Given the description of an element on the screen output the (x, y) to click on. 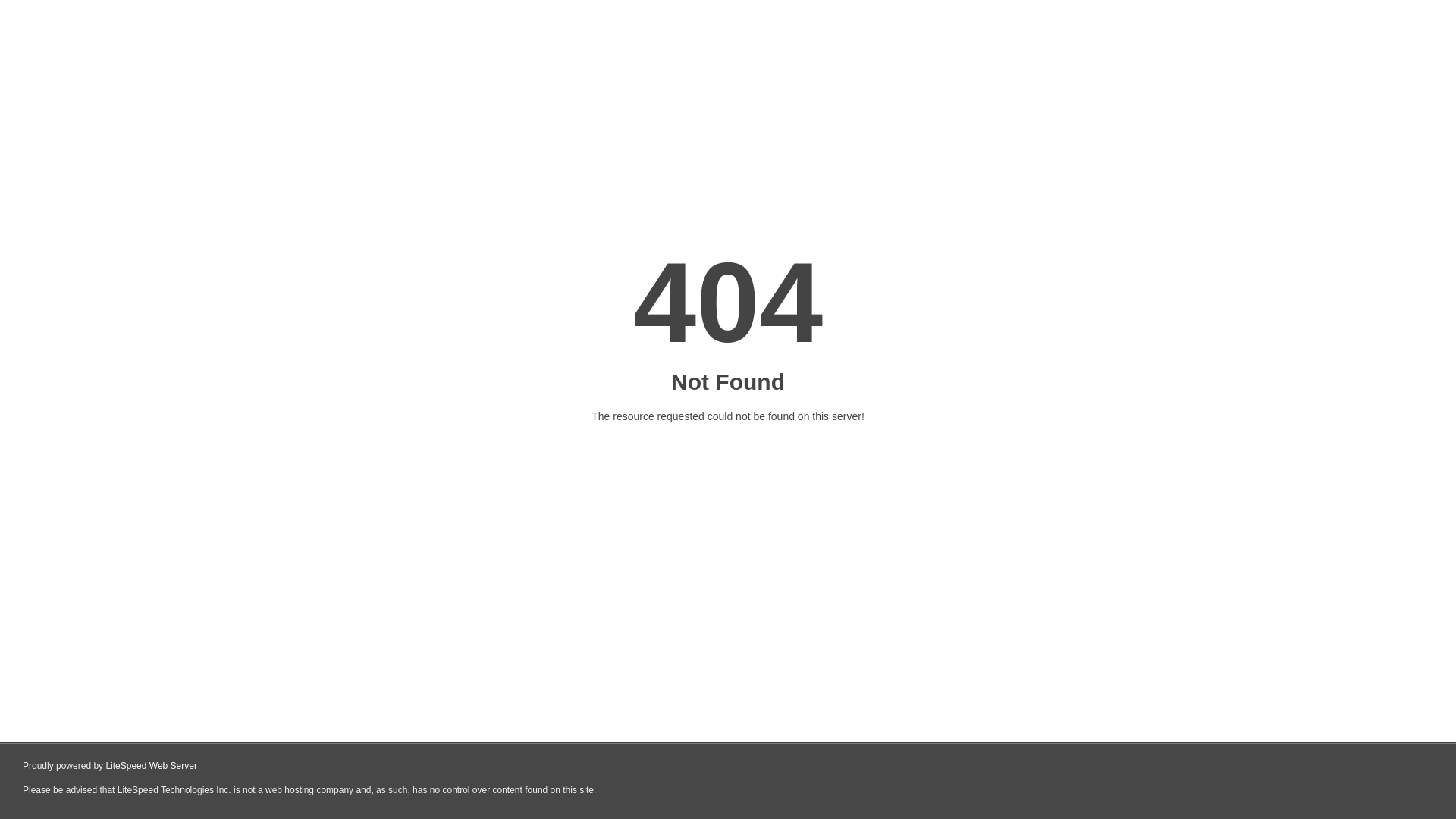
LiteSpeed Web Server Element type: text (151, 765)
